Given the description of an element on the screen output the (x, y) to click on. 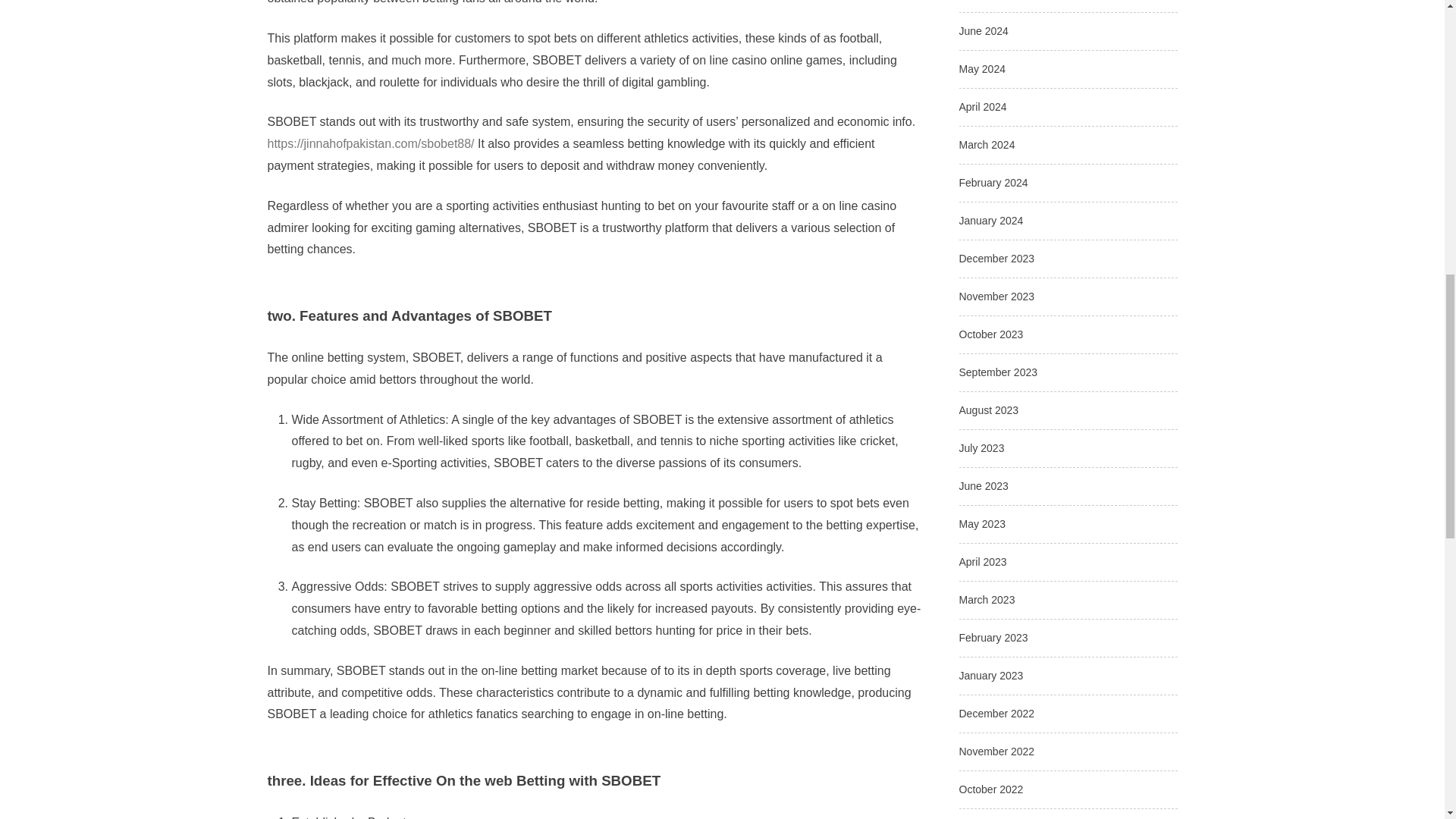
August 2023 (987, 410)
November 2023 (995, 296)
March 2023 (986, 599)
May 2024 (981, 69)
July 2023 (981, 448)
April 2024 (982, 106)
December 2022 (995, 713)
February 2023 (992, 637)
October 2023 (990, 334)
June 2024 (982, 30)
